Given the description of an element on the screen output the (x, y) to click on. 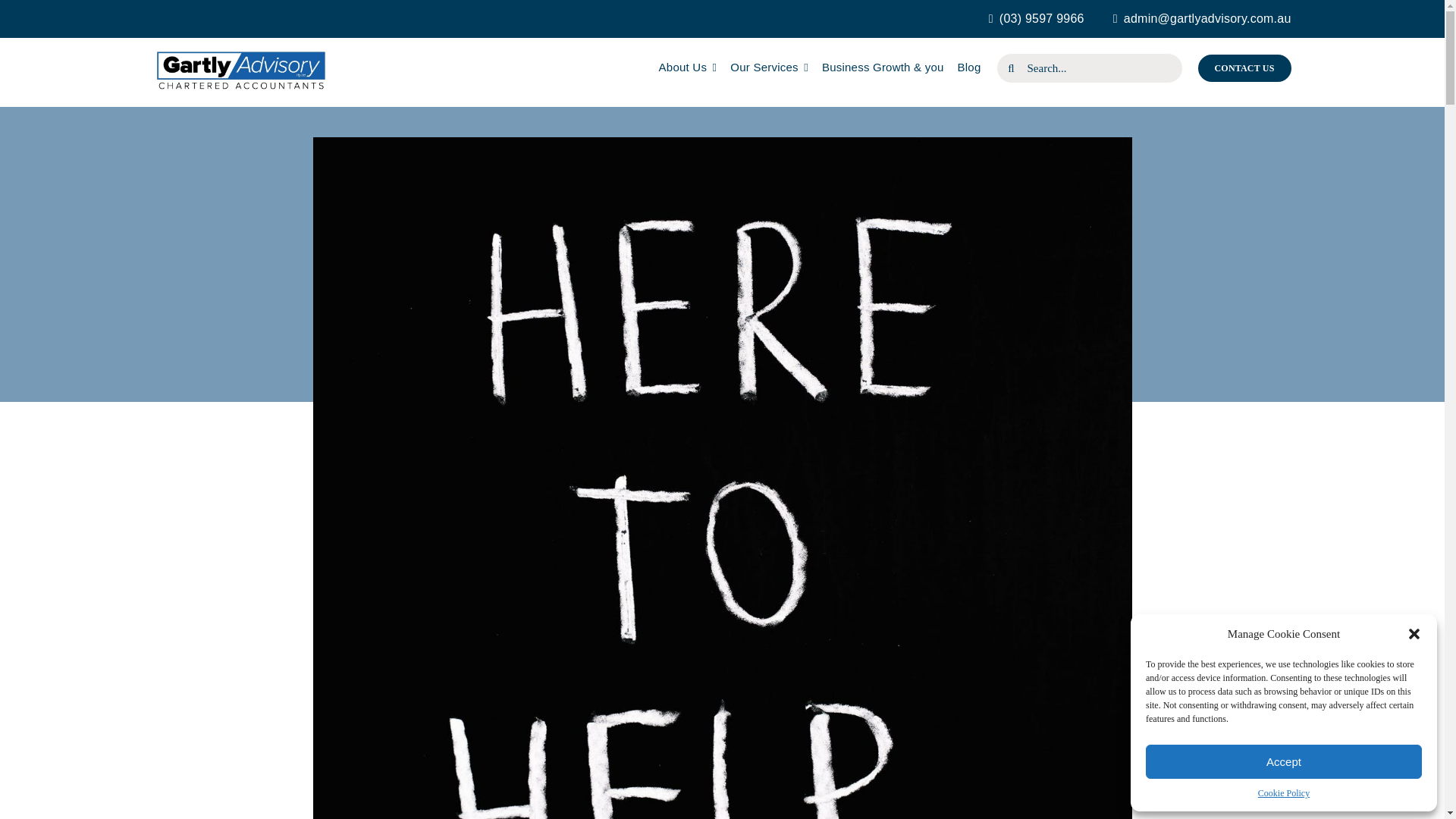
Accept (1283, 761)
Our Services (769, 68)
CONTACT US (1244, 67)
About Us (688, 68)
Blog (969, 68)
Cookie Policy (1282, 793)
